Given the description of an element on the screen output the (x, y) to click on. 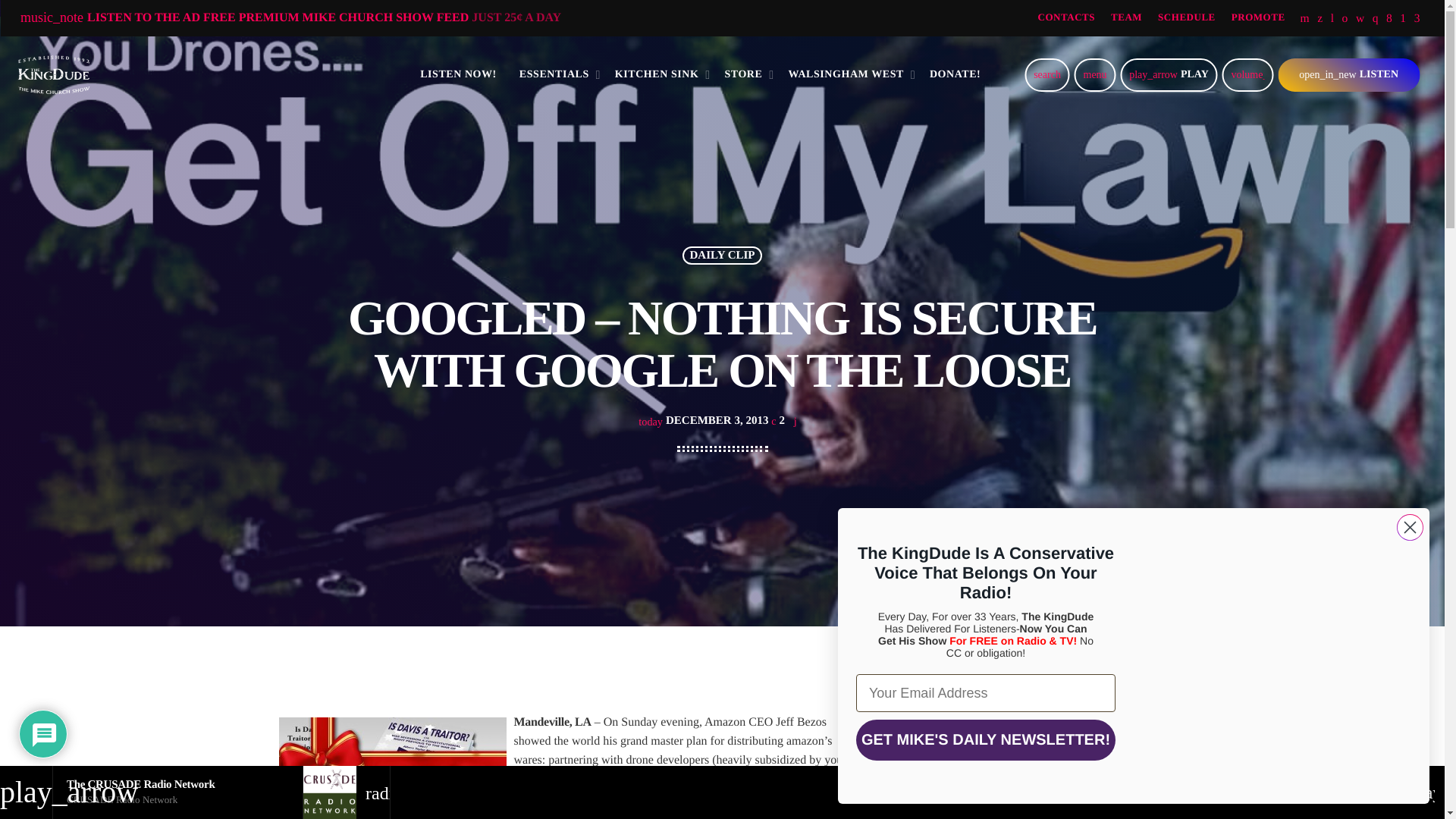
The CRUSADE Radio Network (140, 784)
SCHEDULE (1186, 17)
CONTACTS (1066, 17)
PROMOTE (1257, 17)
LISTEN NOW! (458, 74)
ESSENTIALS (556, 74)
TEAM (1126, 17)
